Given the description of an element on the screen output the (x, y) to click on. 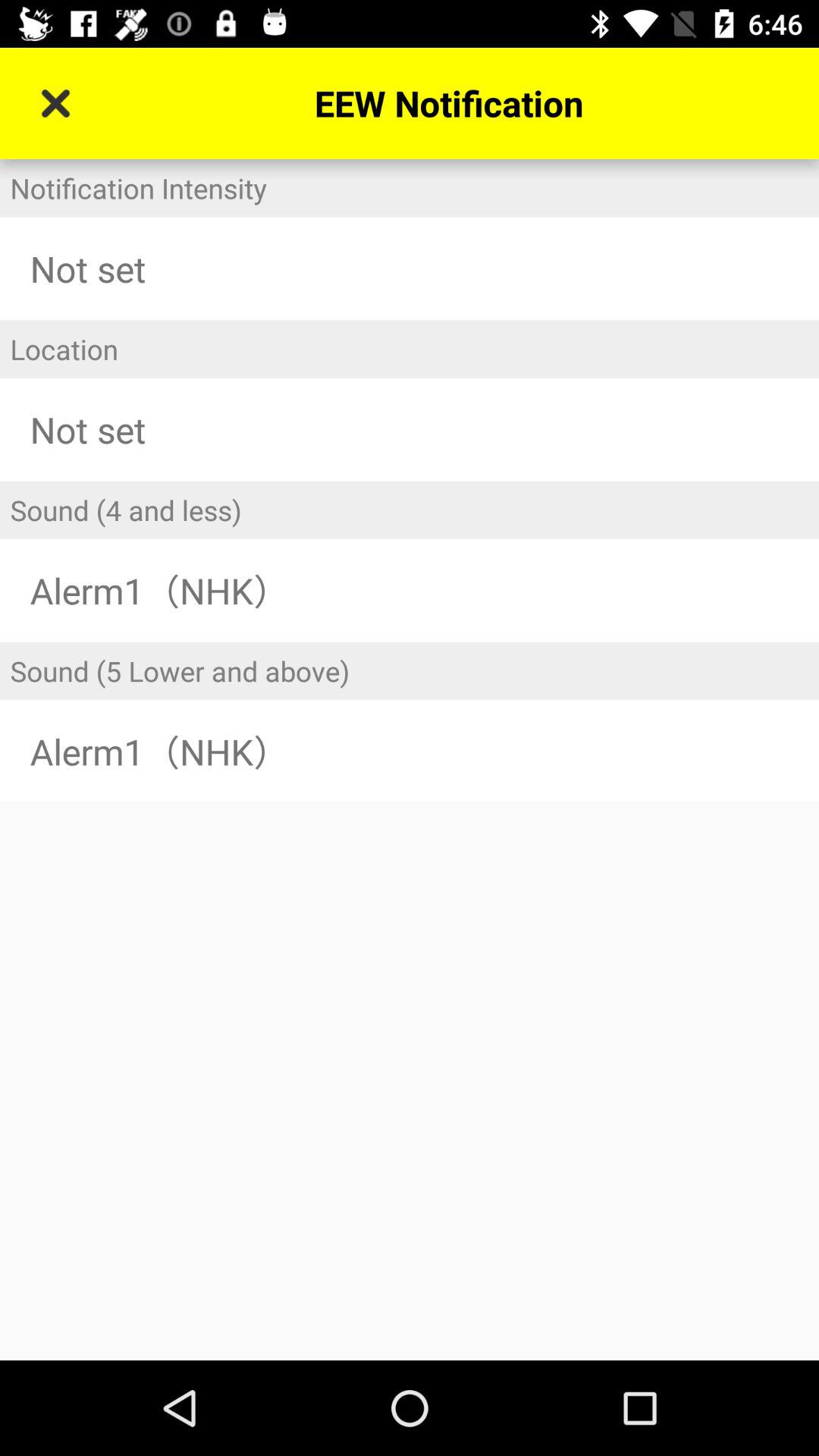
turn on location icon (409, 348)
